Given the description of an element on the screen output the (x, y) to click on. 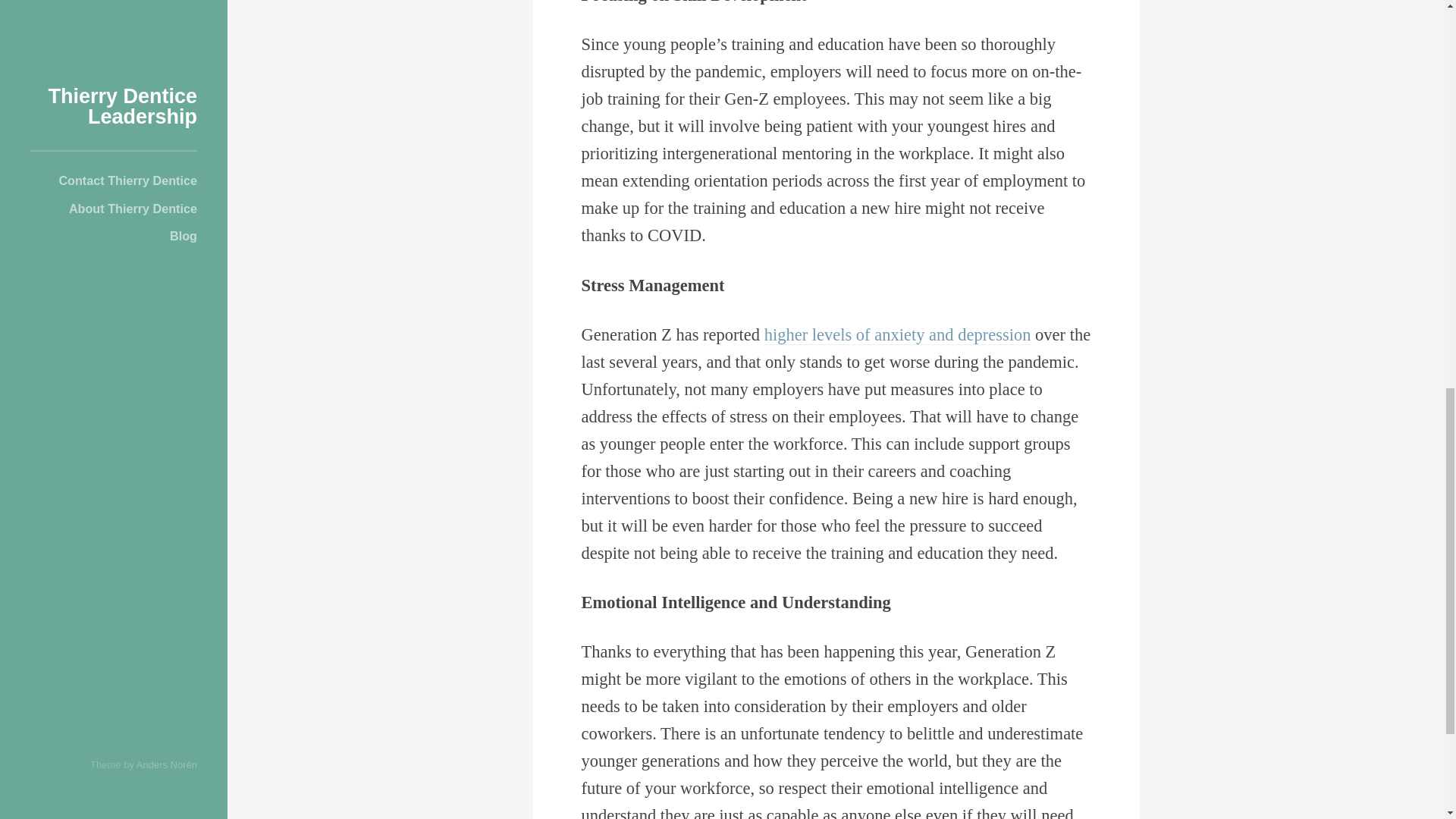
higher levels of anxiety and depression (897, 334)
